Given the description of an element on the screen output the (x, y) to click on. 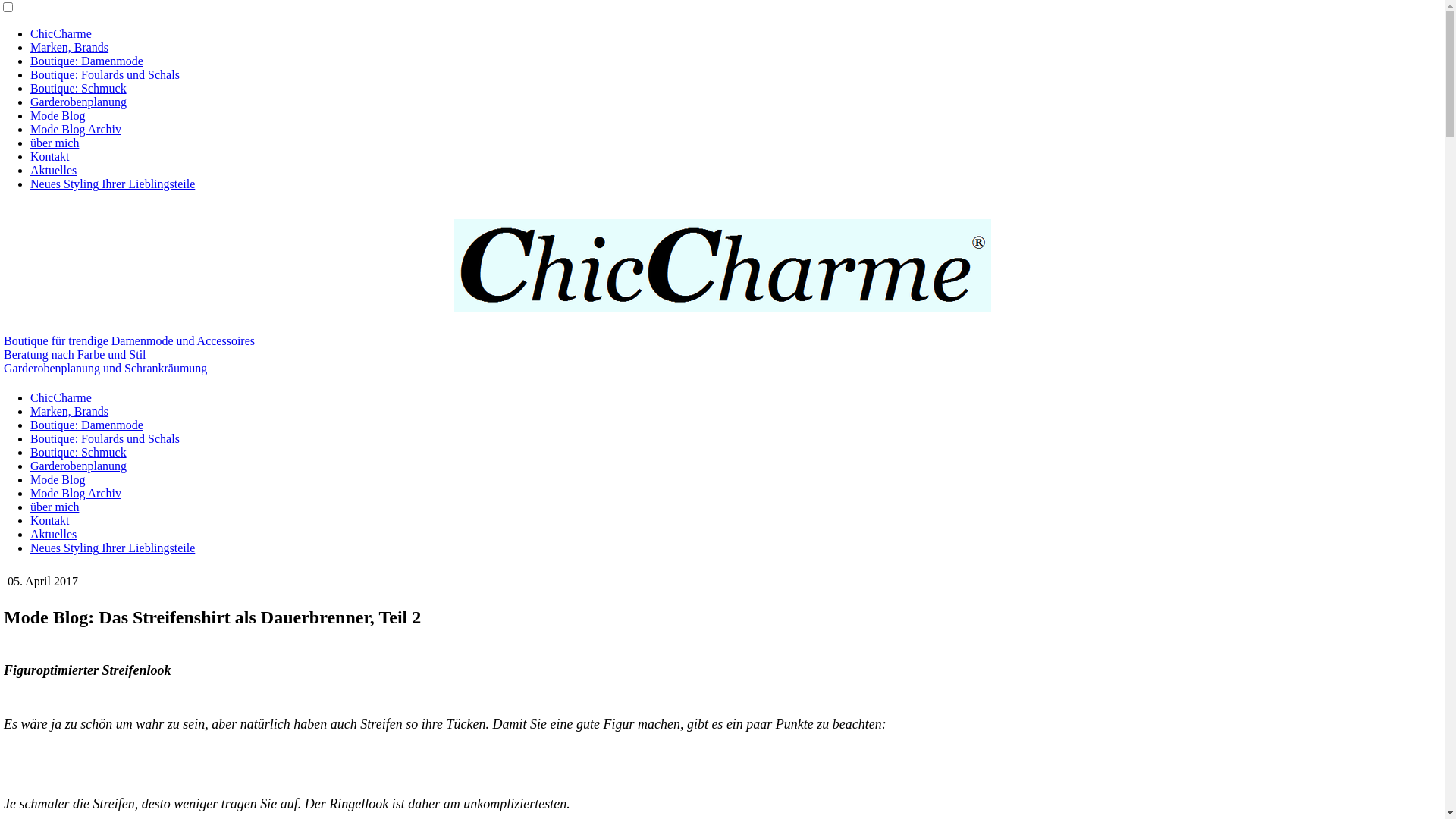
Aktuelles Element type: text (53, 533)
Boutique: Schmuck Element type: text (78, 87)
ChicCharme Element type: text (60, 33)
Boutique: Damenmode Element type: text (86, 60)
Marken, Brands Element type: text (69, 410)
Boutique: Damenmode Element type: text (86, 424)
Kontakt Element type: text (49, 156)
Aktuelles Element type: text (53, 169)
Boutique: Schmuck Element type: text (78, 451)
Boutique: Foulards und Schals Element type: text (104, 74)
Mode Blog Element type: text (57, 115)
Marken, Brands Element type: text (69, 46)
Mode Blog Archiv Element type: text (75, 492)
Garderobenplanung Element type: text (78, 101)
Neues Styling Ihrer Lieblingsteile Element type: text (112, 183)
Kontakt Element type: text (49, 520)
Mode Blog Element type: text (57, 479)
Boutique: Foulards und Schals Element type: text (104, 438)
Mode Blog Archiv Element type: text (75, 128)
ChicCharme Element type: text (60, 397)
Garderobenplanung Element type: text (78, 465)
Neues Styling Ihrer Lieblingsteile Element type: text (112, 547)
